Given the description of an element on the screen output the (x, y) to click on. 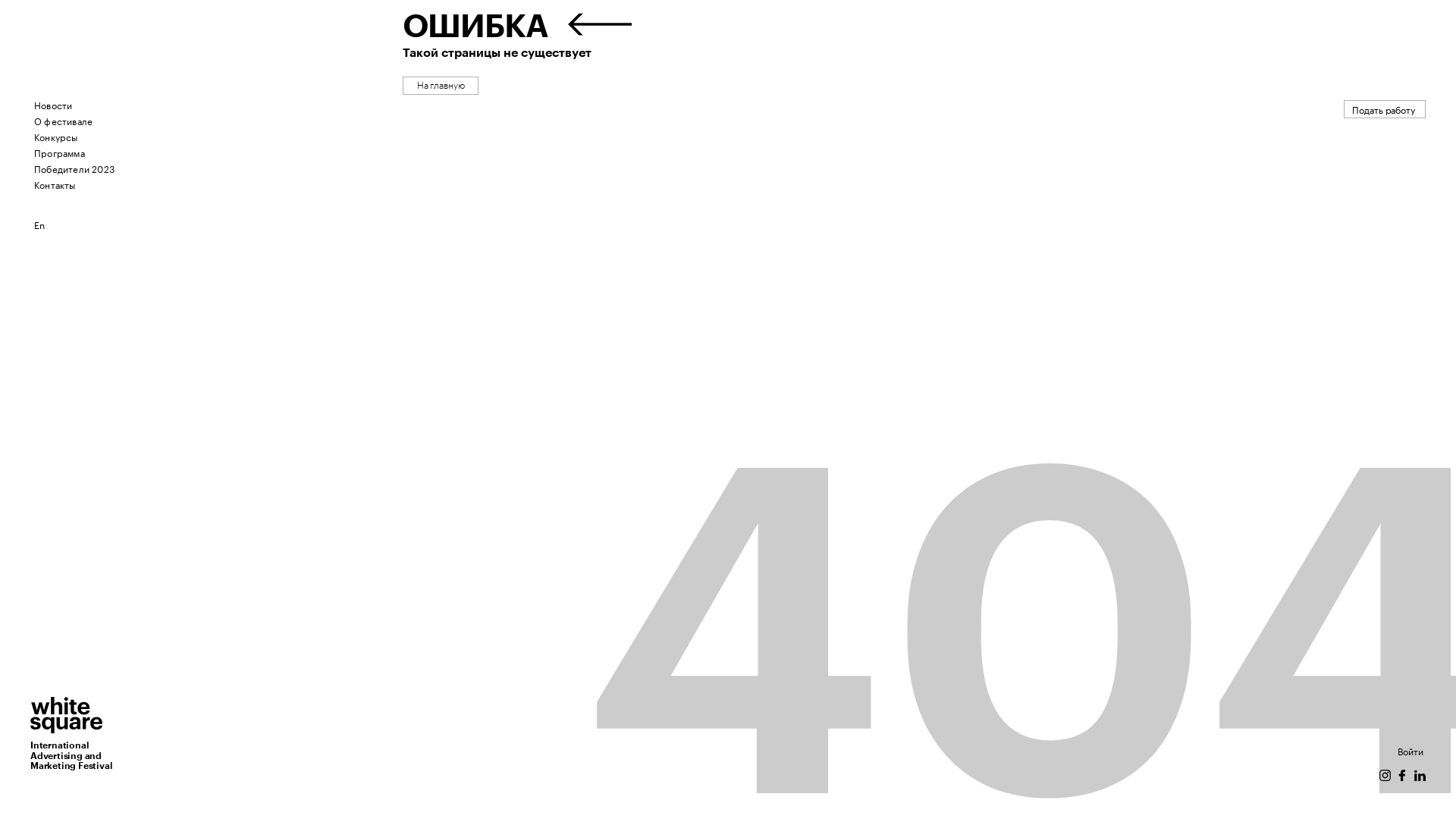
En Element type: text (39, 223)
